Given the description of an element on the screen output the (x, y) to click on. 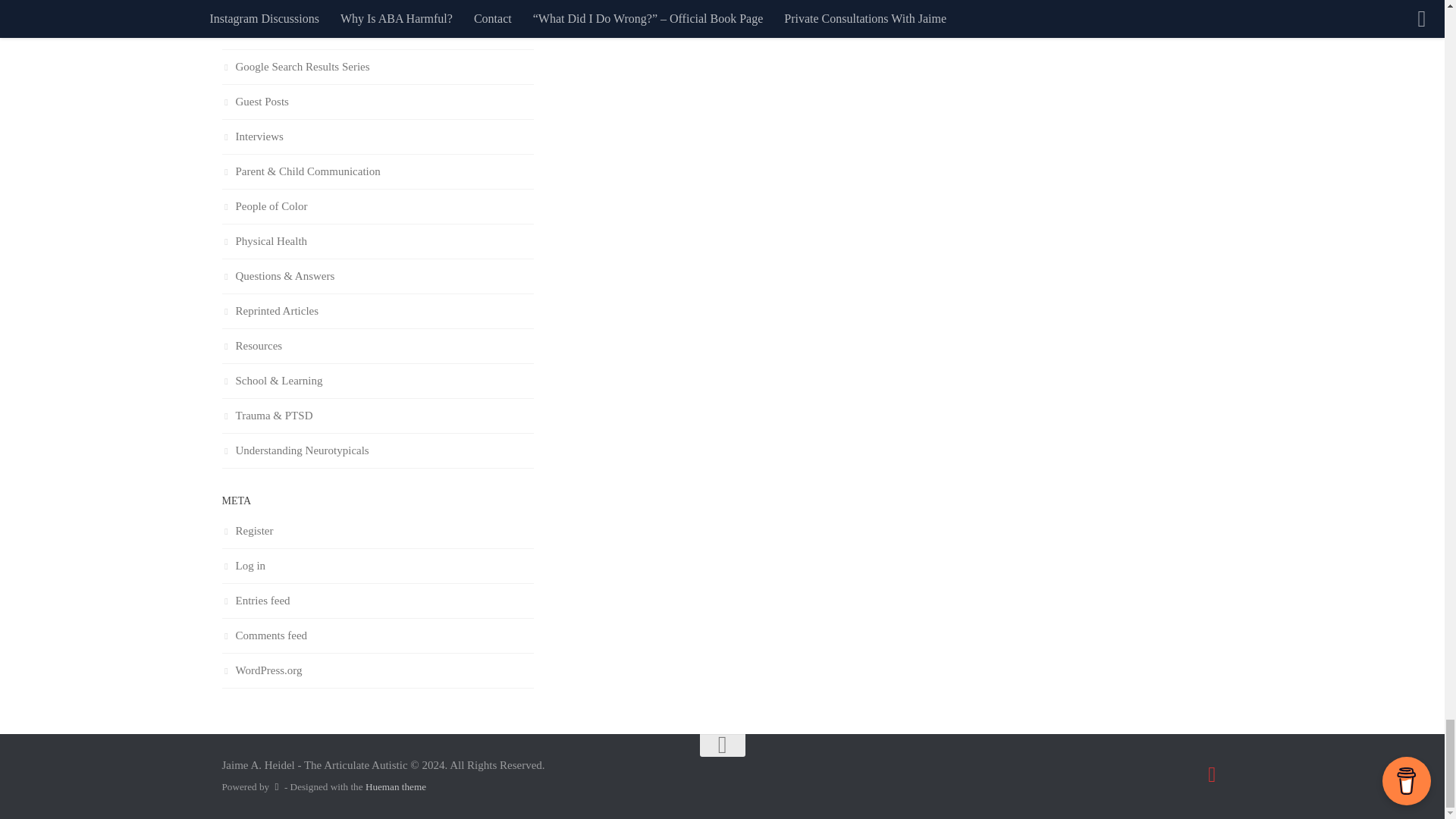
Instagram (1212, 774)
Powered by WordPress (275, 786)
Hueman theme (395, 786)
